Given the description of an element on the screen output the (x, y) to click on. 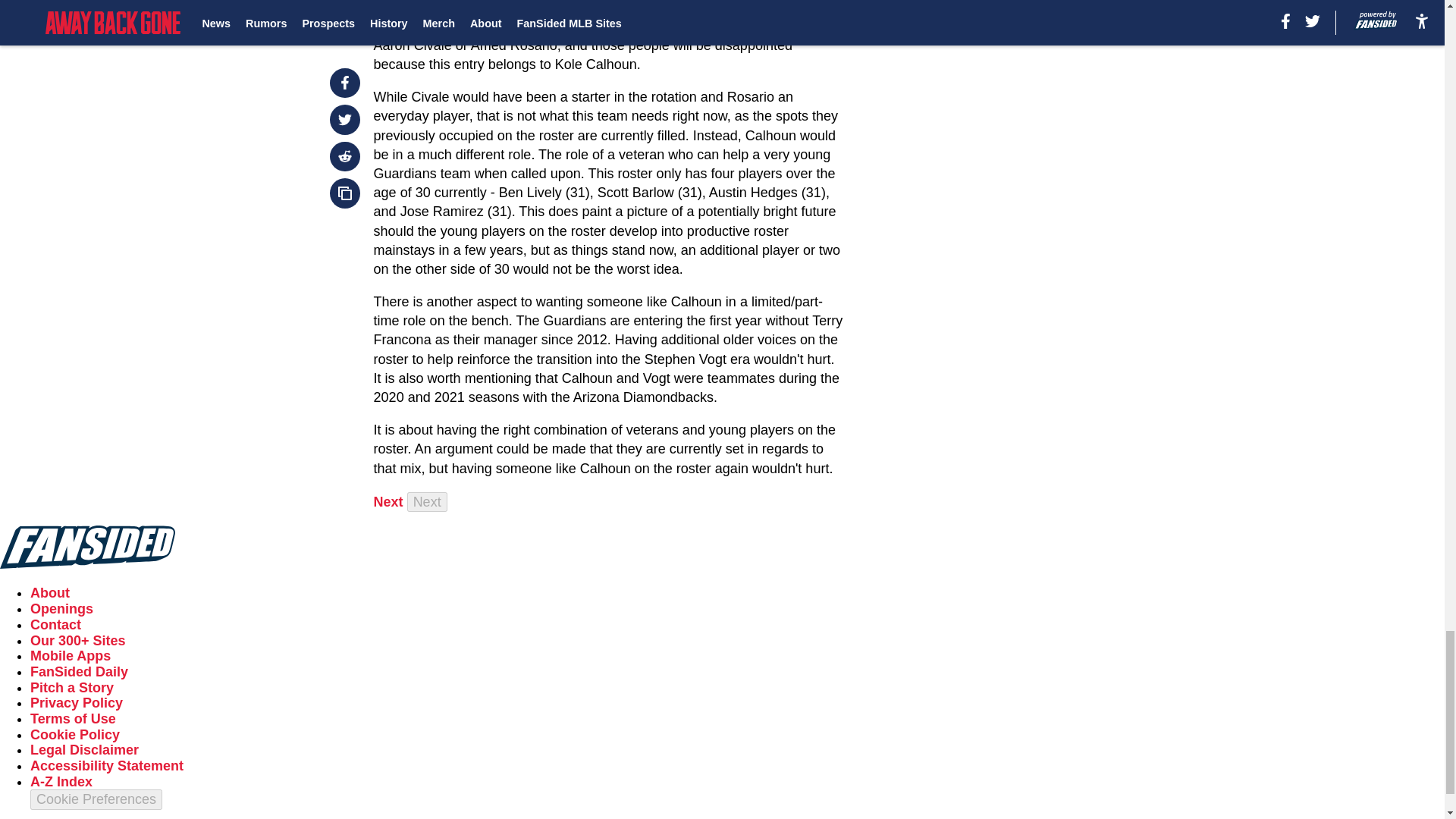
Next (388, 501)
Next (426, 502)
About (49, 592)
Contact (55, 624)
Openings (61, 608)
